Given the description of an element on the screen output the (x, y) to click on. 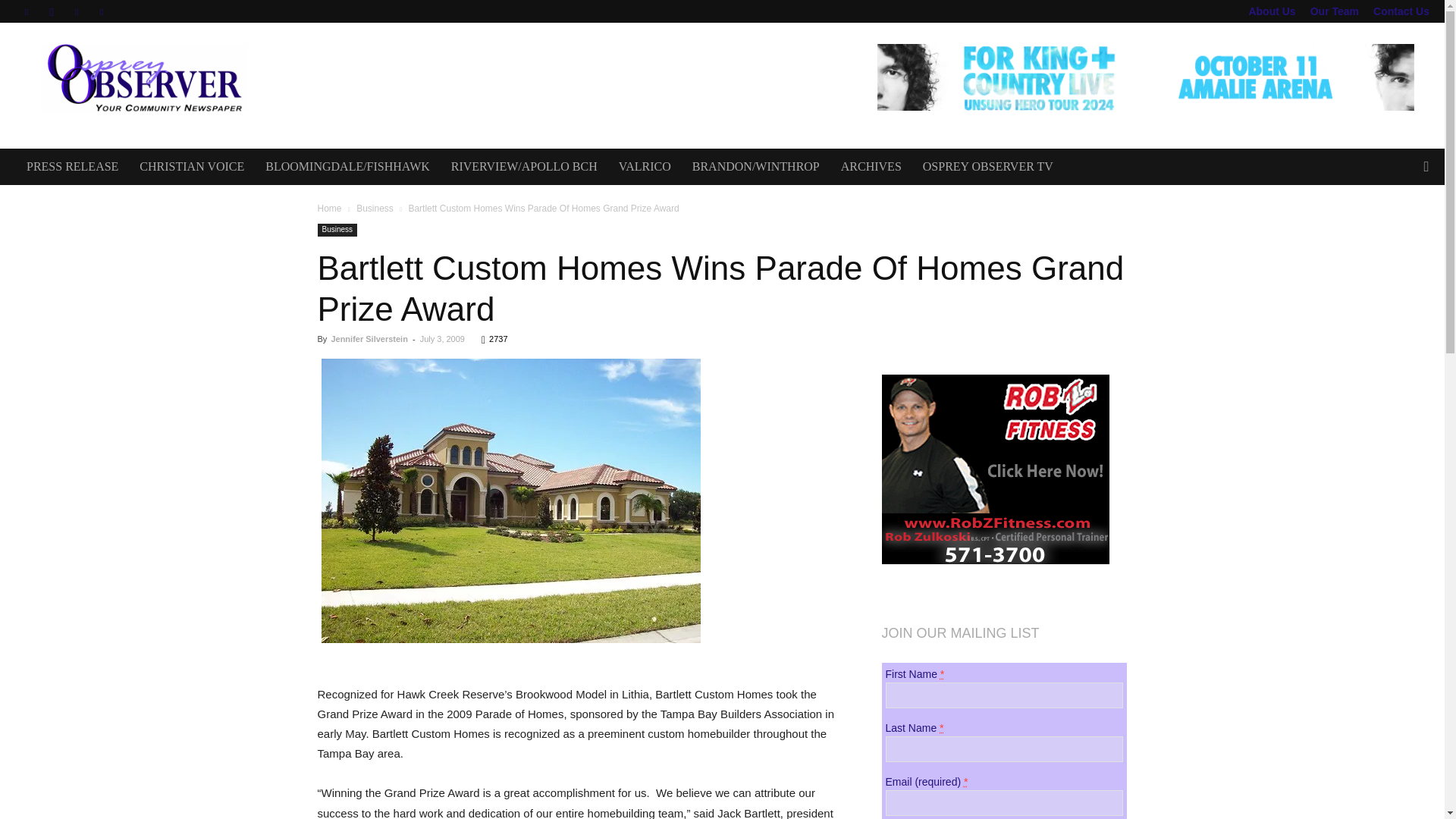
Instagram (51, 11)
View all posts in Business (374, 208)
Twitter (76, 11)
Youtube (101, 11)
Bartlett Homes (510, 508)
About Us (1271, 10)
Facebook (25, 11)
Our Team (1334, 10)
